Given the description of an element on the screen output the (x, y) to click on. 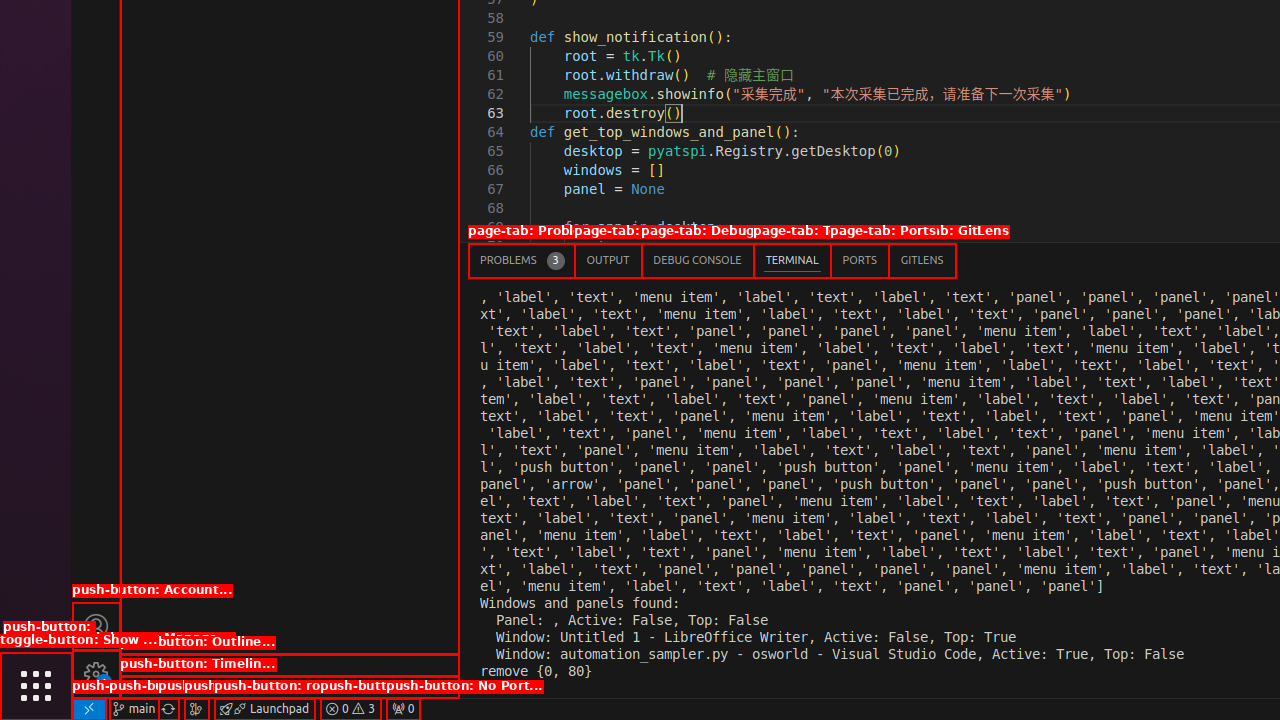
Active View Switcher Element type: page-tab-list (712, 260)
Debug Console (Ctrl+Shift+Y) Element type: page-tab (697, 260)
OSWorld (Git) - main, Checkout Branch/Tag... Element type: push-button (134, 709)
GitLens Element type: page-tab (922, 260)
